Given the description of an element on the screen output the (x, y) to click on. 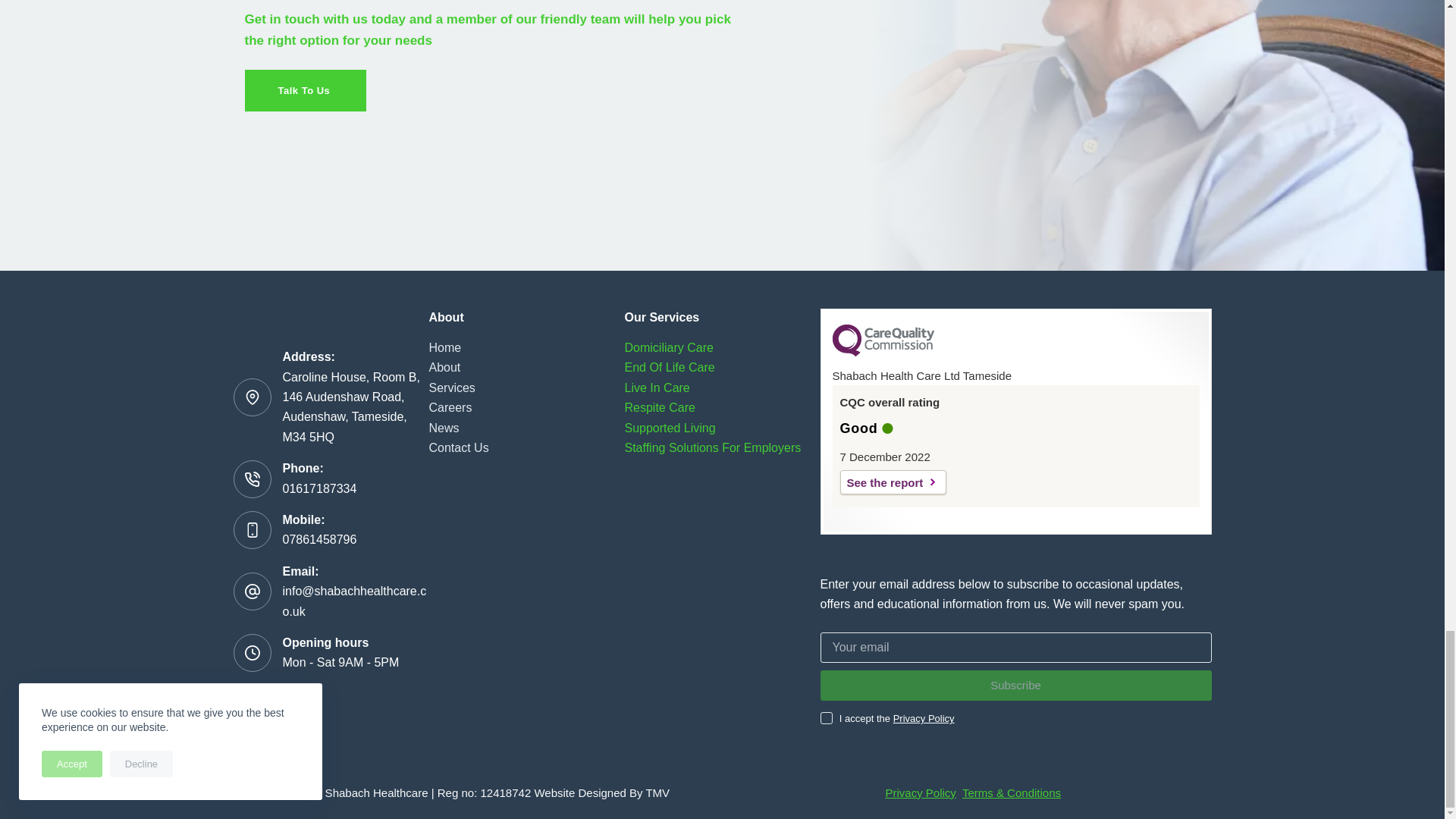
Talk To Us  (305, 90)
CQC Logo (883, 352)
Email (1016, 647)
07861458796 (319, 539)
on (826, 717)
01617187334 (319, 488)
